Given the description of an element on the screen output the (x, y) to click on. 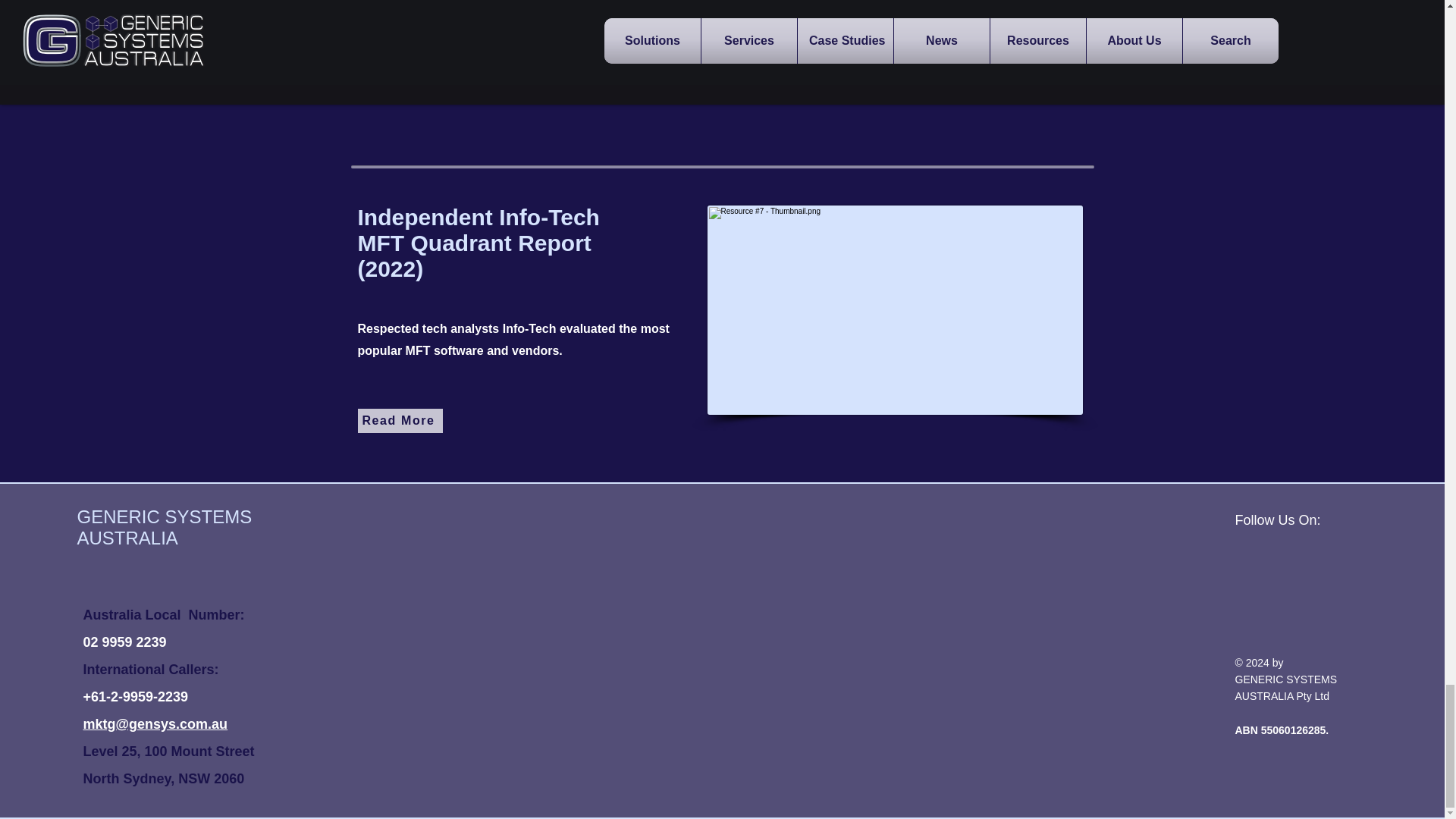
GENERIC SYSTEMS AUSTRALIA (164, 526)
Read More (400, 420)
Read More (794, 77)
